Given the description of an element on the screen output the (x, y) to click on. 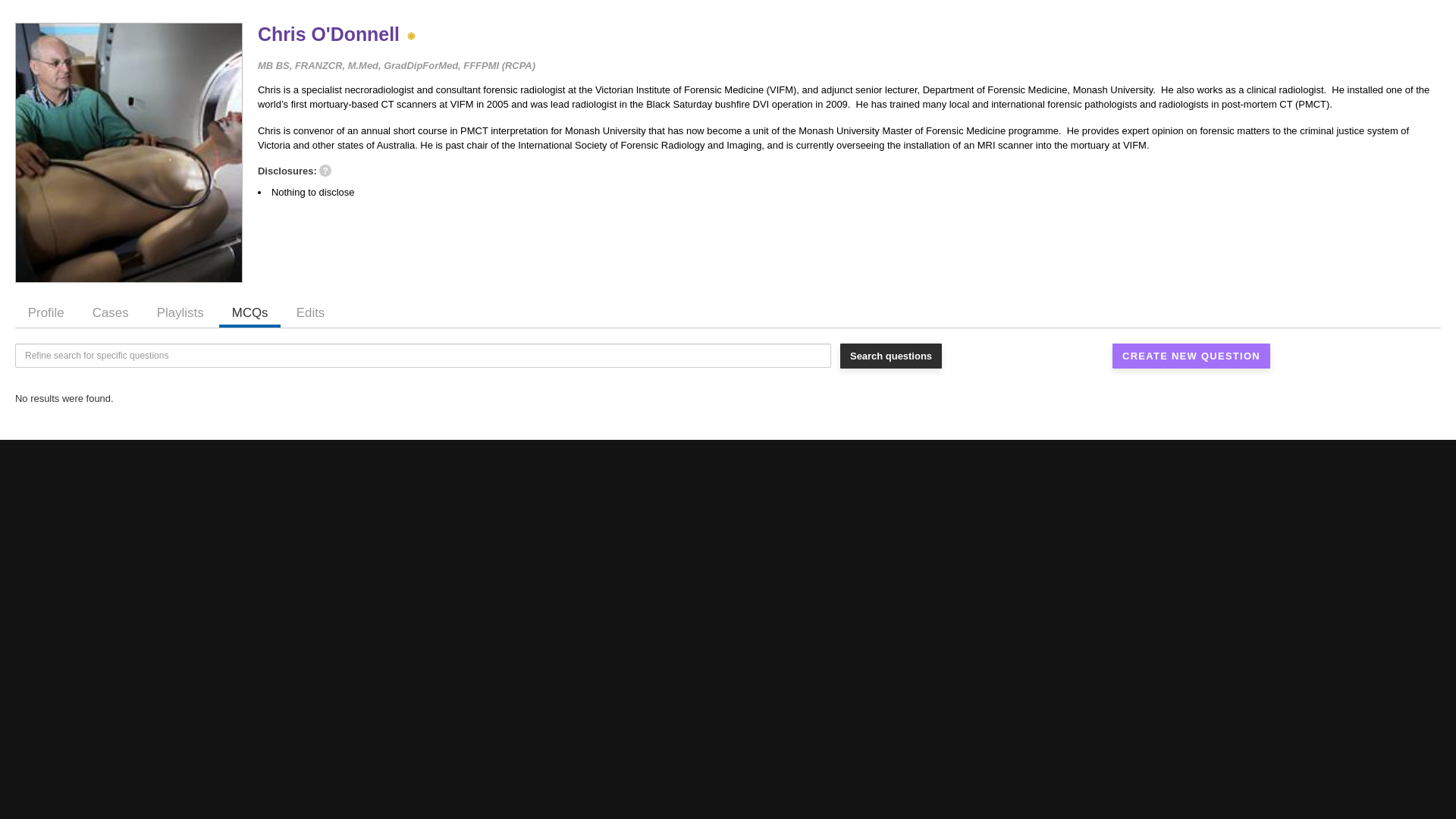
Playlists (727, 312)
Search questions (180, 312)
Edits (891, 355)
Cases (310, 312)
CREATE NEW QUESTION (111, 312)
Search questions (1190, 355)
Profile (891, 355)
MCQs (45, 312)
